Given the description of an element on the screen output the (x, y) to click on. 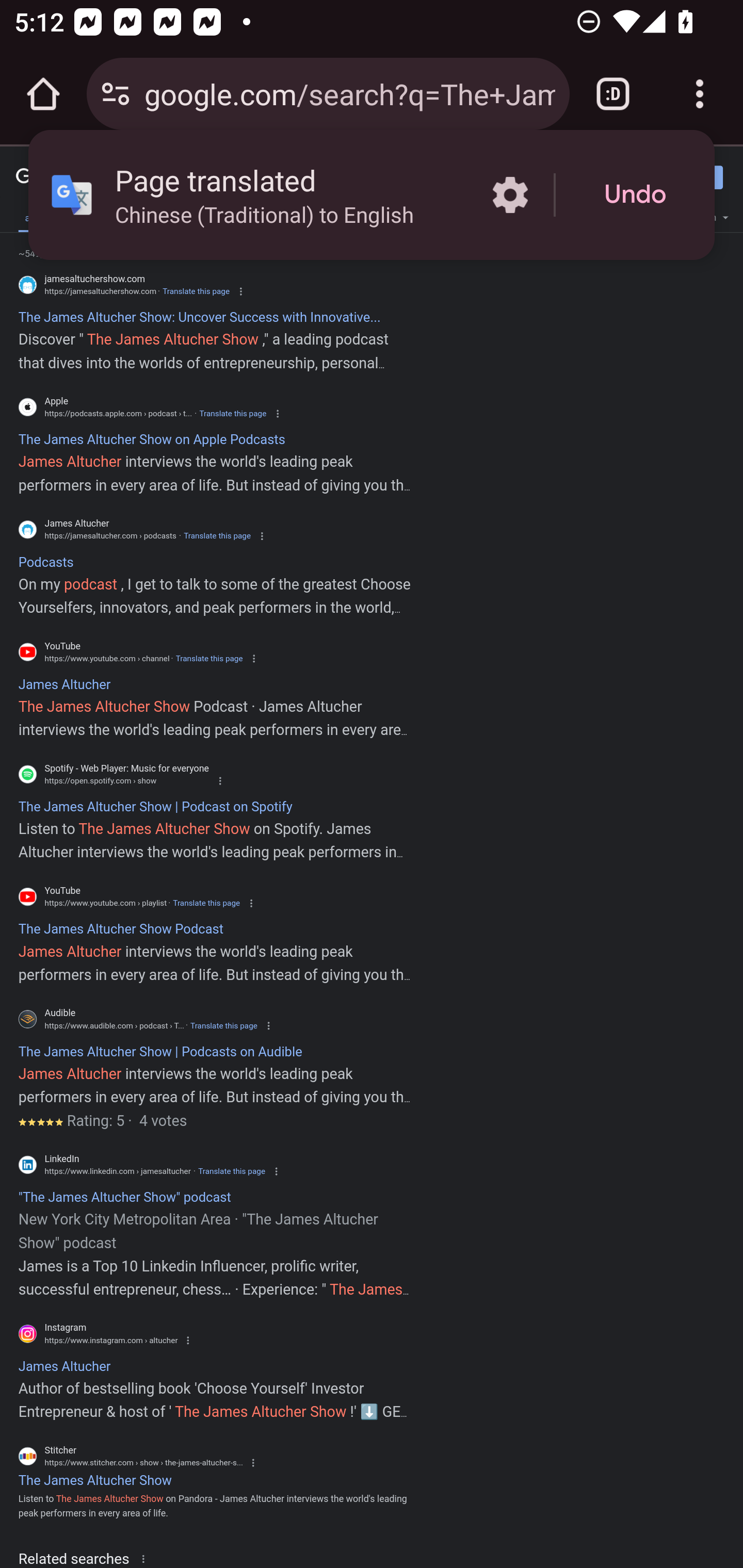
Open the home page (43, 93)
Connection is secure (115, 93)
Switch or close tabs (612, 93)
Customize and control Google Chrome (699, 93)
Undo (634, 195)
More options in the Page translated (509, 195)
Translate this page (195, 291)
Translate this page (232, 413)
Translate this page (217, 535)
Translate this page (208, 658)
Translate this page (206, 902)
Translate this page (223, 1025)
Translate this page (231, 1171)
About this result (146, 1557)
